Given the description of an element on the screen output the (x, y) to click on. 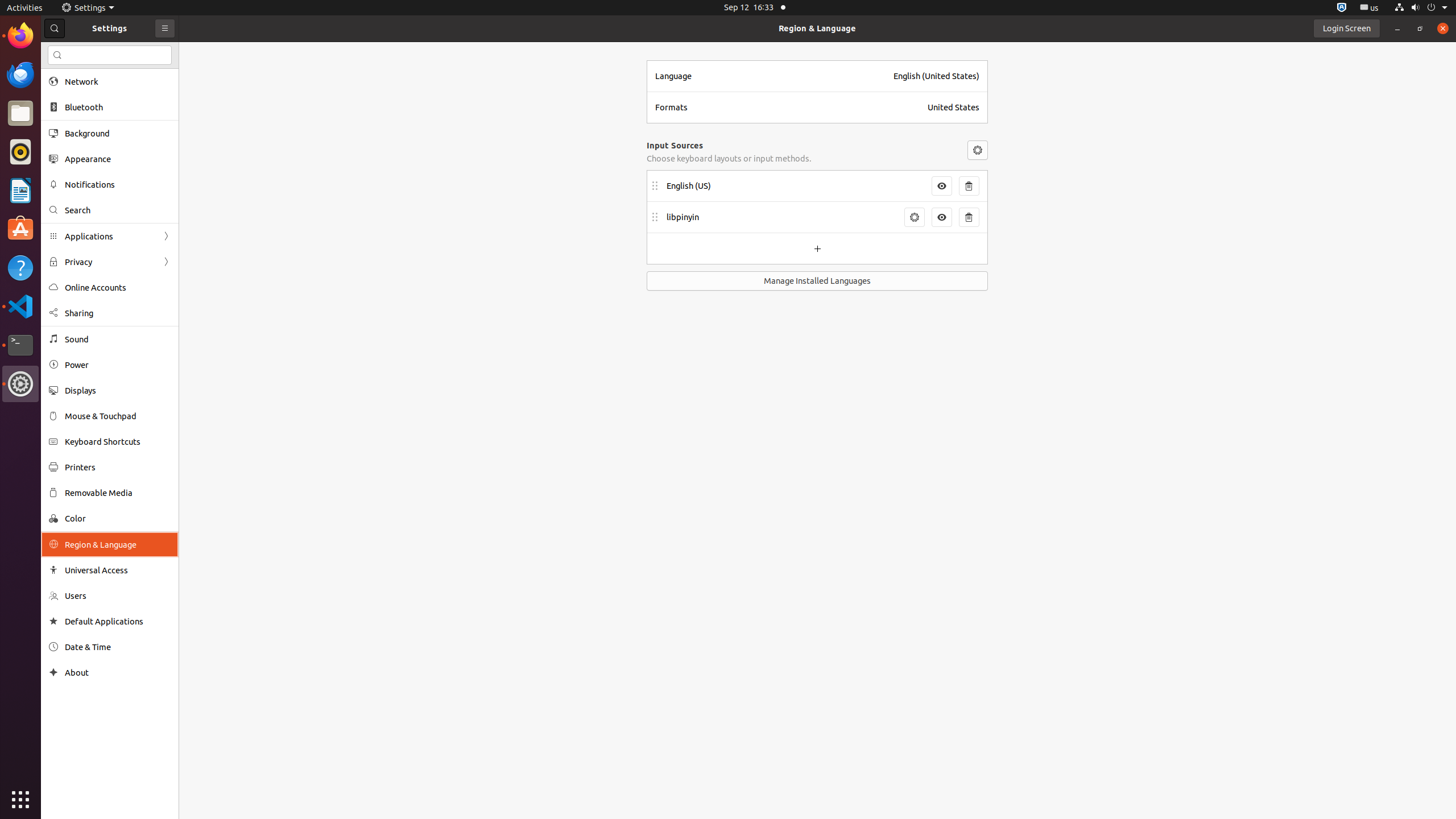
Restore Element type: push-button (1419, 27)
Online Accounts Element type: label (117, 287)
Search Element type: text (109, 54)
About Element type: icon (53, 672)
Search Element type: label (117, 209)
